Given the description of an element on the screen output the (x, y) to click on. 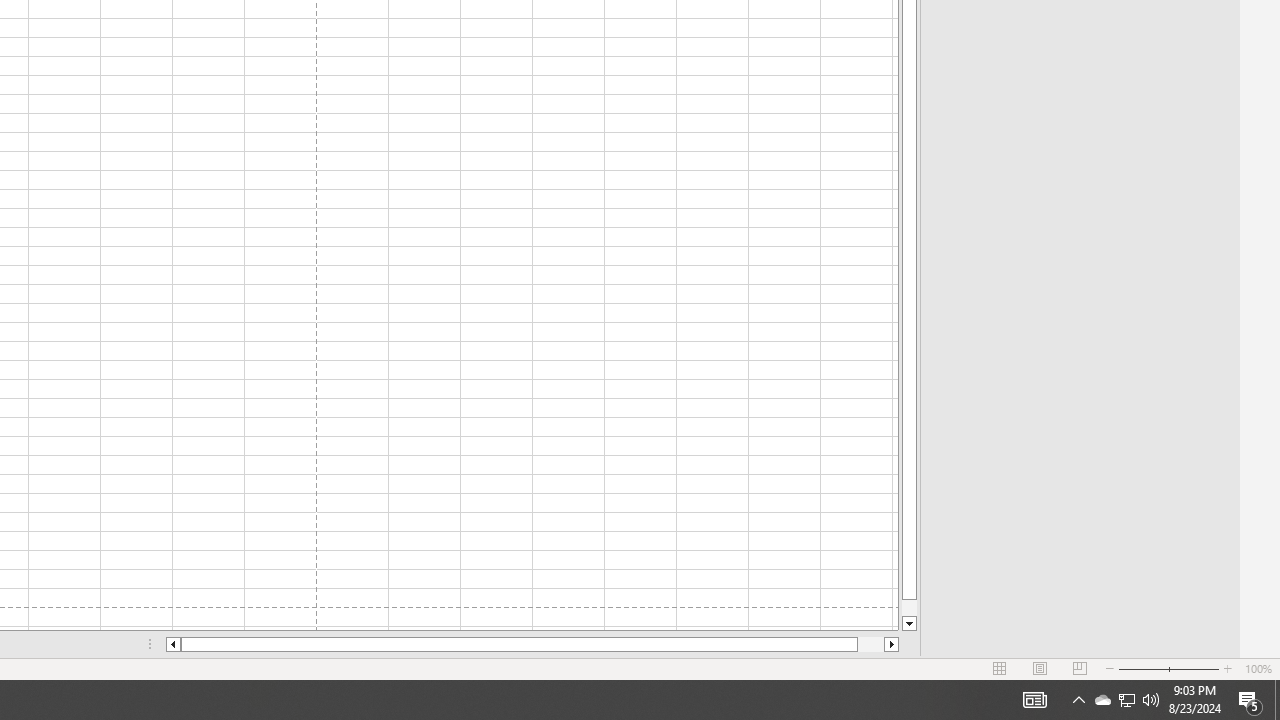
Zoom Out (1142, 668)
Column right (892, 644)
Zoom In (1227, 668)
Page down (909, 607)
Column left (171, 644)
Class: NetUIScrollBar (532, 644)
Normal (1000, 668)
Page Break Preview (1079, 668)
Page right (870, 644)
Line down (909, 624)
Zoom (1168, 668)
